Given the description of an element on the screen output the (x, y) to click on. 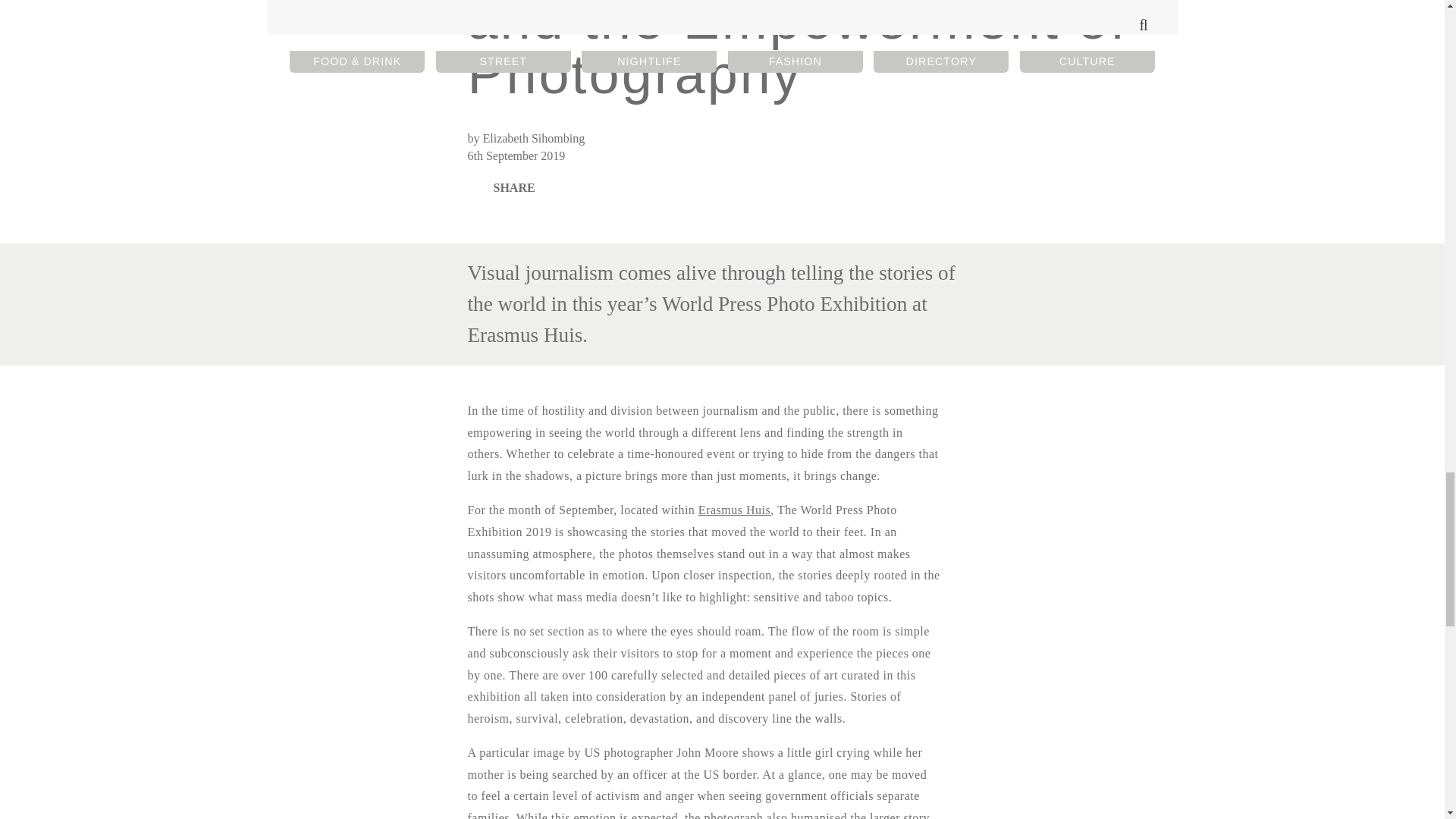
Erasmus Huis (734, 509)
Share on Facebook (504, 187)
SHARE (504, 187)
